Given the description of an element on the screen output the (x, y) to click on. 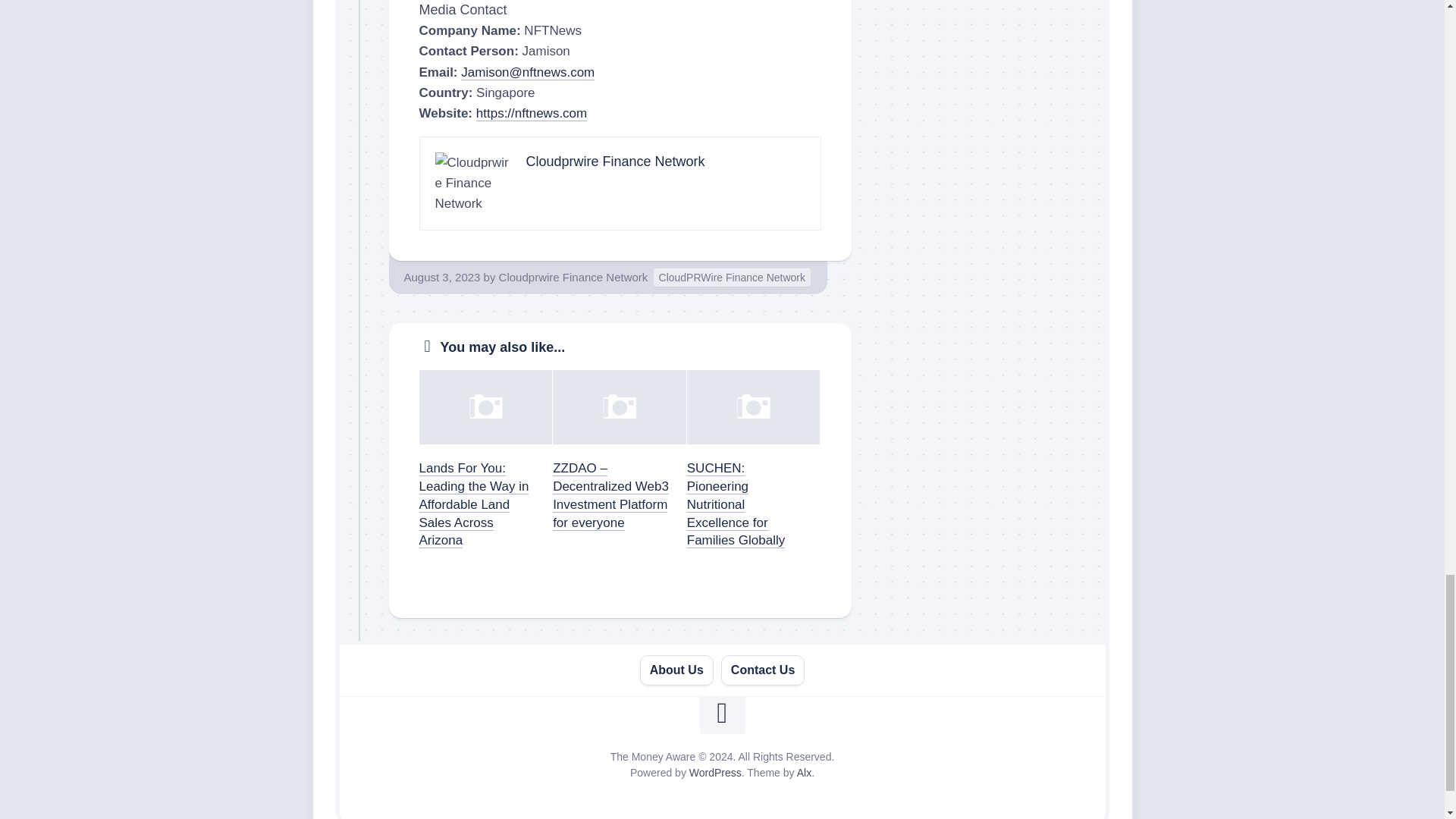
About Us (676, 669)
Contact Us (762, 669)
Posts by Cloudprwire Finance Network (573, 277)
CloudPRWire Finance Network (731, 277)
Cloudprwire Finance Network (614, 160)
Cloudprwire Finance Network (573, 277)
